Given the description of an element on the screen output the (x, y) to click on. 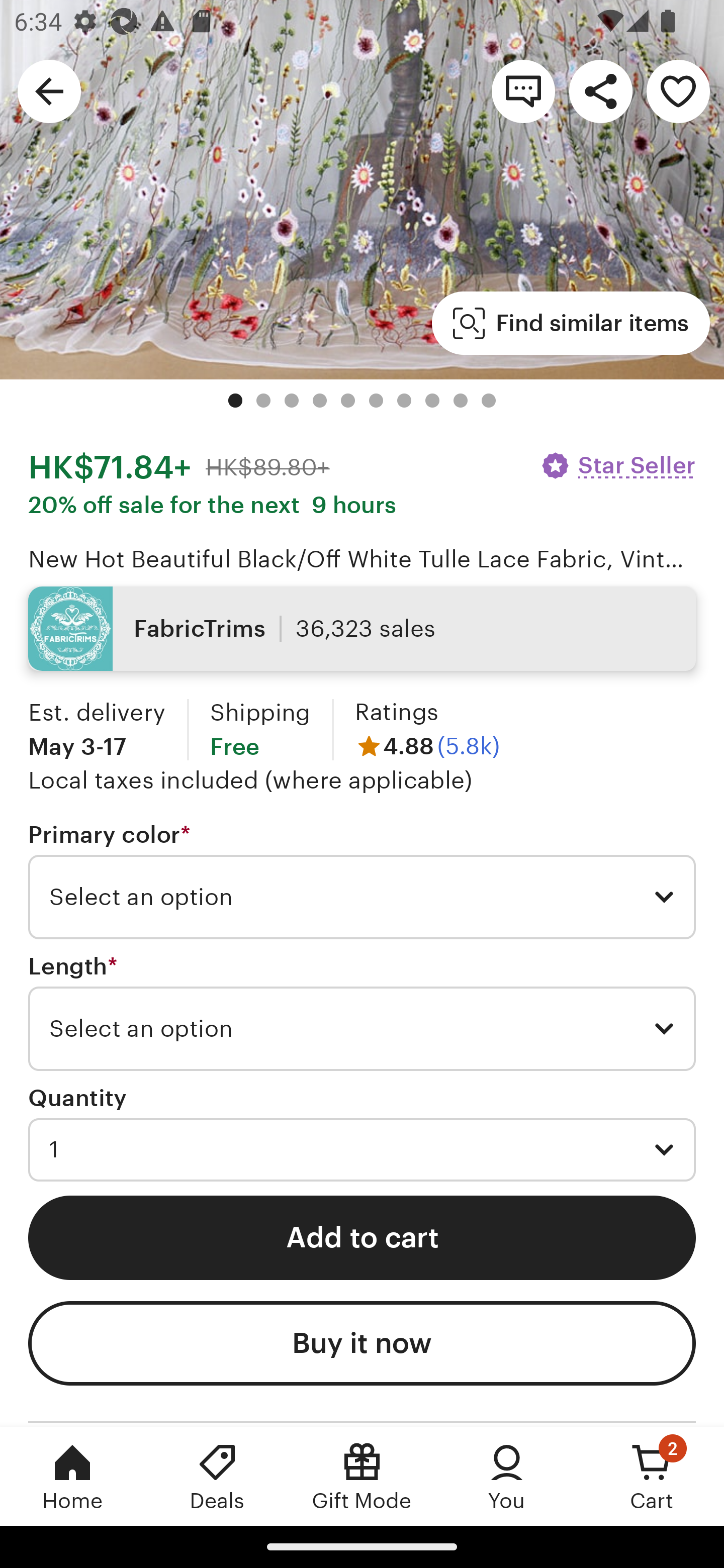
Navigate up (49, 90)
Contact shop (523, 90)
Share (600, 90)
Find similar items (571, 322)
Star Seller (617, 465)
FabricTrims 36,323 sales (361, 628)
Ratings (396, 711)
4.88 (5.8k) (427, 746)
Primary color * Required Select an option (361, 880)
Select an option (361, 896)
Length * Required Select an option (361, 1011)
Select an option (361, 1028)
Quantity (77, 1098)
1 (361, 1149)
Add to cart (361, 1236)
Buy it now (361, 1343)
Deals (216, 1475)
Gift Mode (361, 1475)
You (506, 1475)
Cart, 2 new notifications Cart (651, 1475)
